Given the description of an element on the screen output the (x, y) to click on. 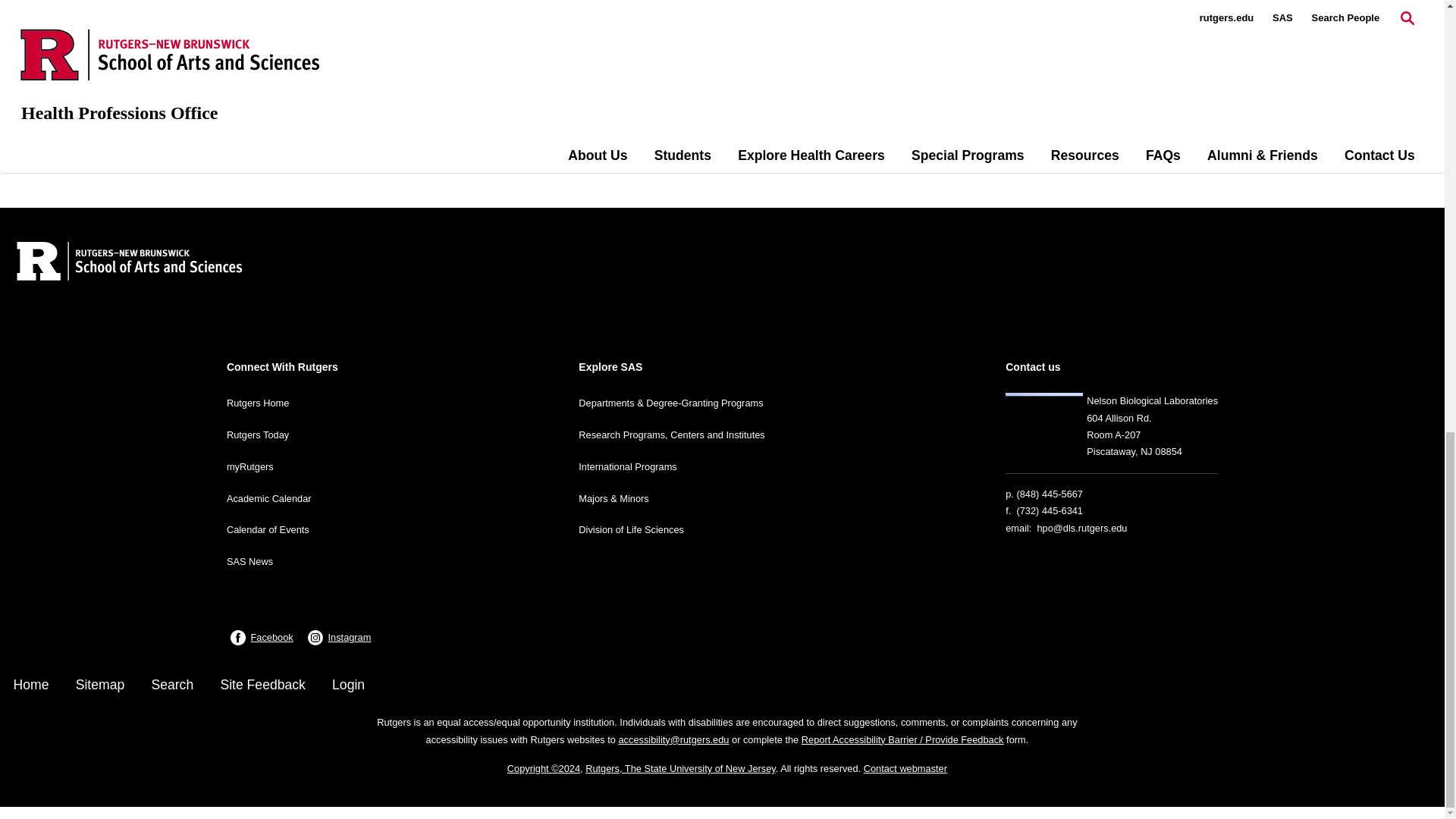
Nelson Labs (1044, 422)
